Given the description of an element on the screen output the (x, y) to click on. 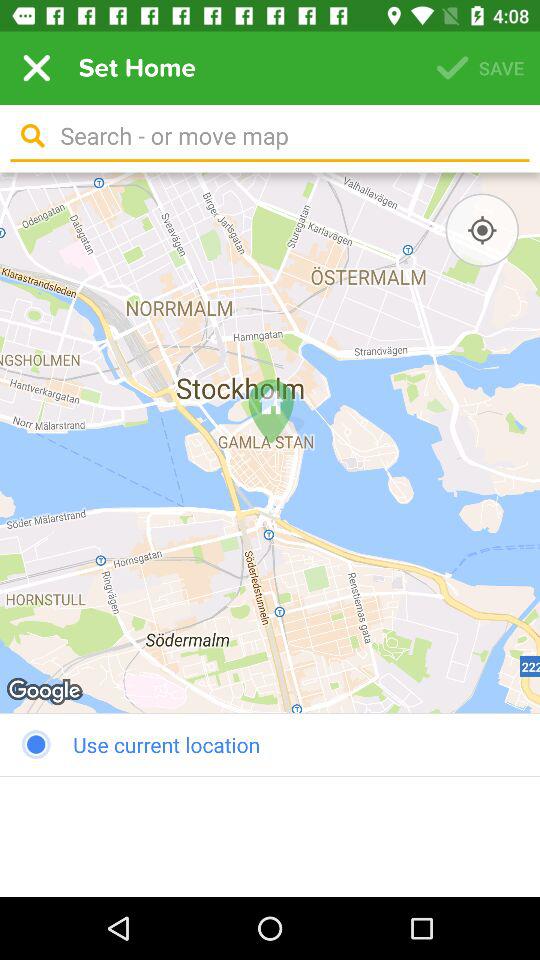
search the map (288, 135)
